Given the description of an element on the screen output the (x, y) to click on. 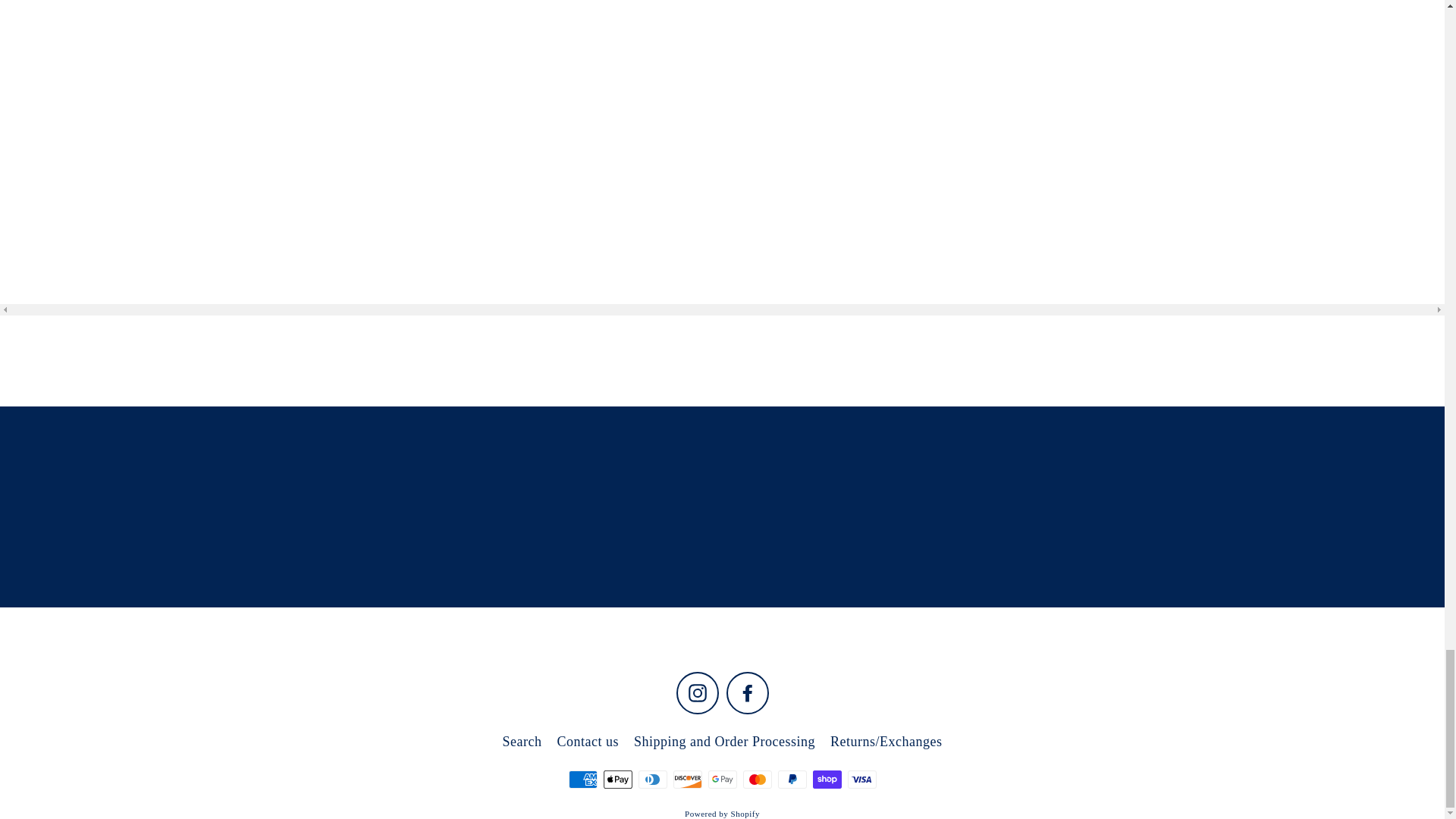
Diners Club (652, 779)
Mastercard (756, 779)
Google Pay (721, 779)
American Express (582, 779)
Discover (686, 779)
Sports 4 on Facebook (747, 692)
Apple Pay (617, 779)
PayPal (791, 779)
Sports 4 on Instagram (698, 692)
